Given the description of an element on the screen output the (x, y) to click on. 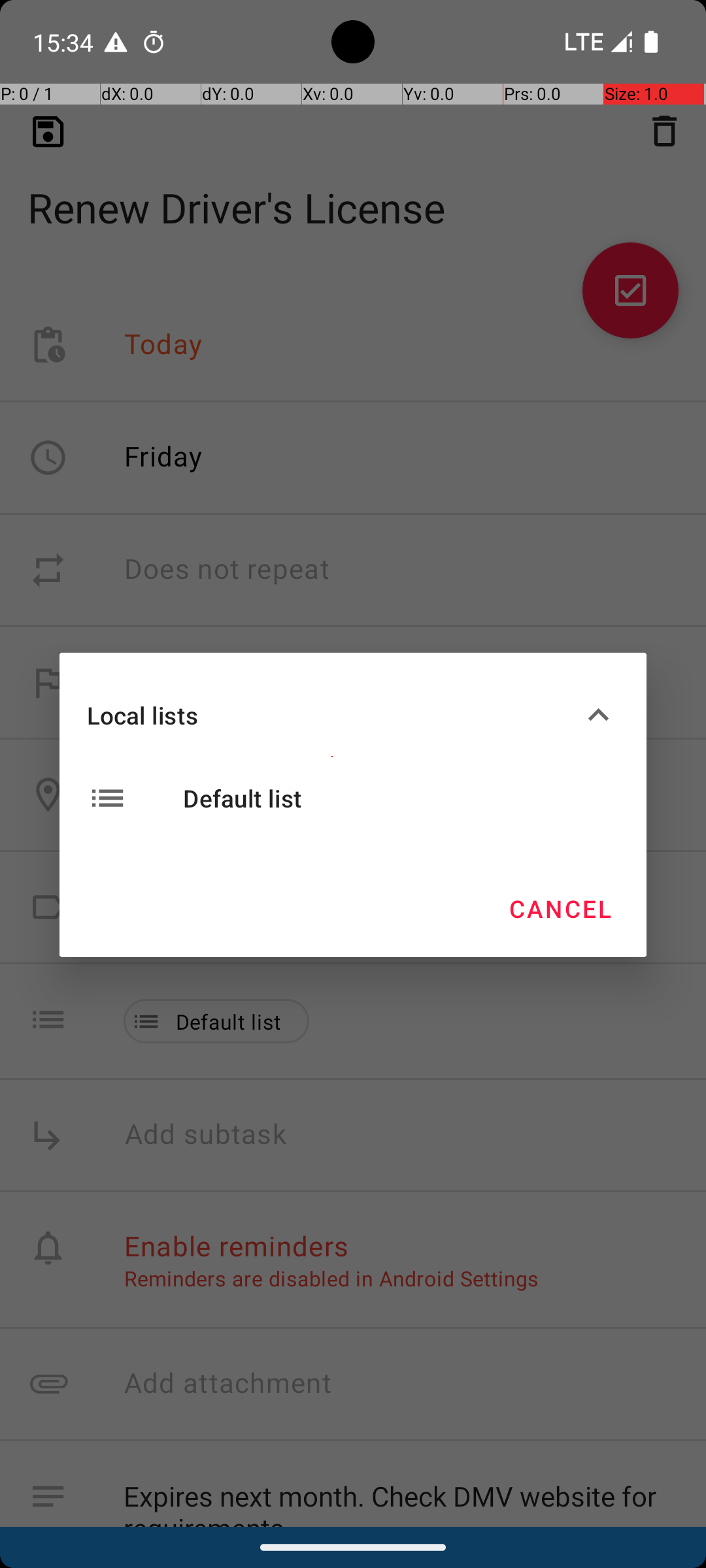
Local lists Element type: android.widget.TextView (331, 715)
